Given the description of an element on the screen output the (x, y) to click on. 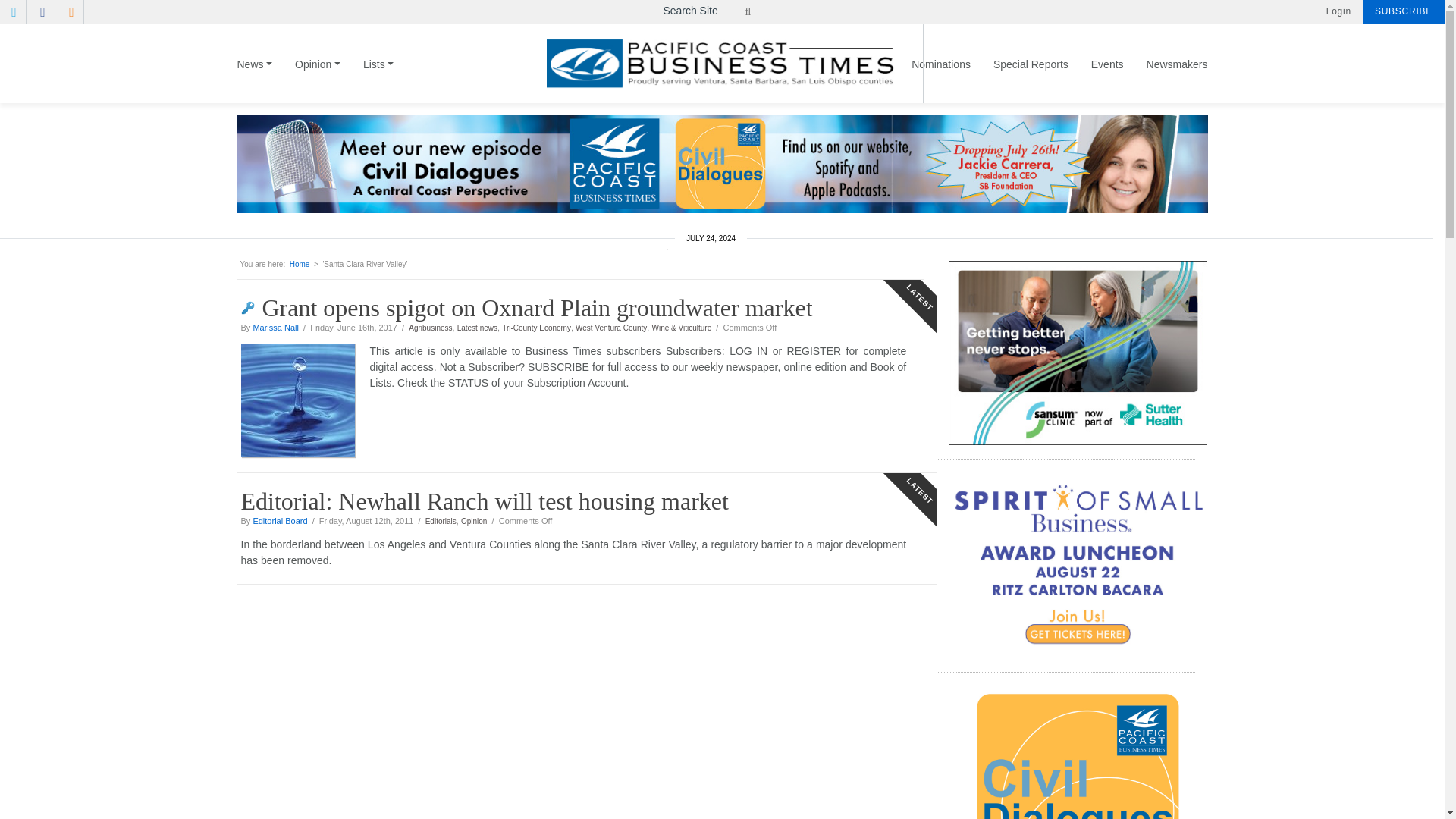
Opinion (317, 79)
Special Reports (1030, 79)
Nominations (940, 79)
Posts by Marissa Nall (274, 327)
Lists (378, 79)
Posts by Editorial Board (279, 520)
News (259, 79)
Grant opens spigot on Oxnard Plain groundwater market (305, 400)
Login (1338, 10)
